Given the description of an element on the screen output the (x, y) to click on. 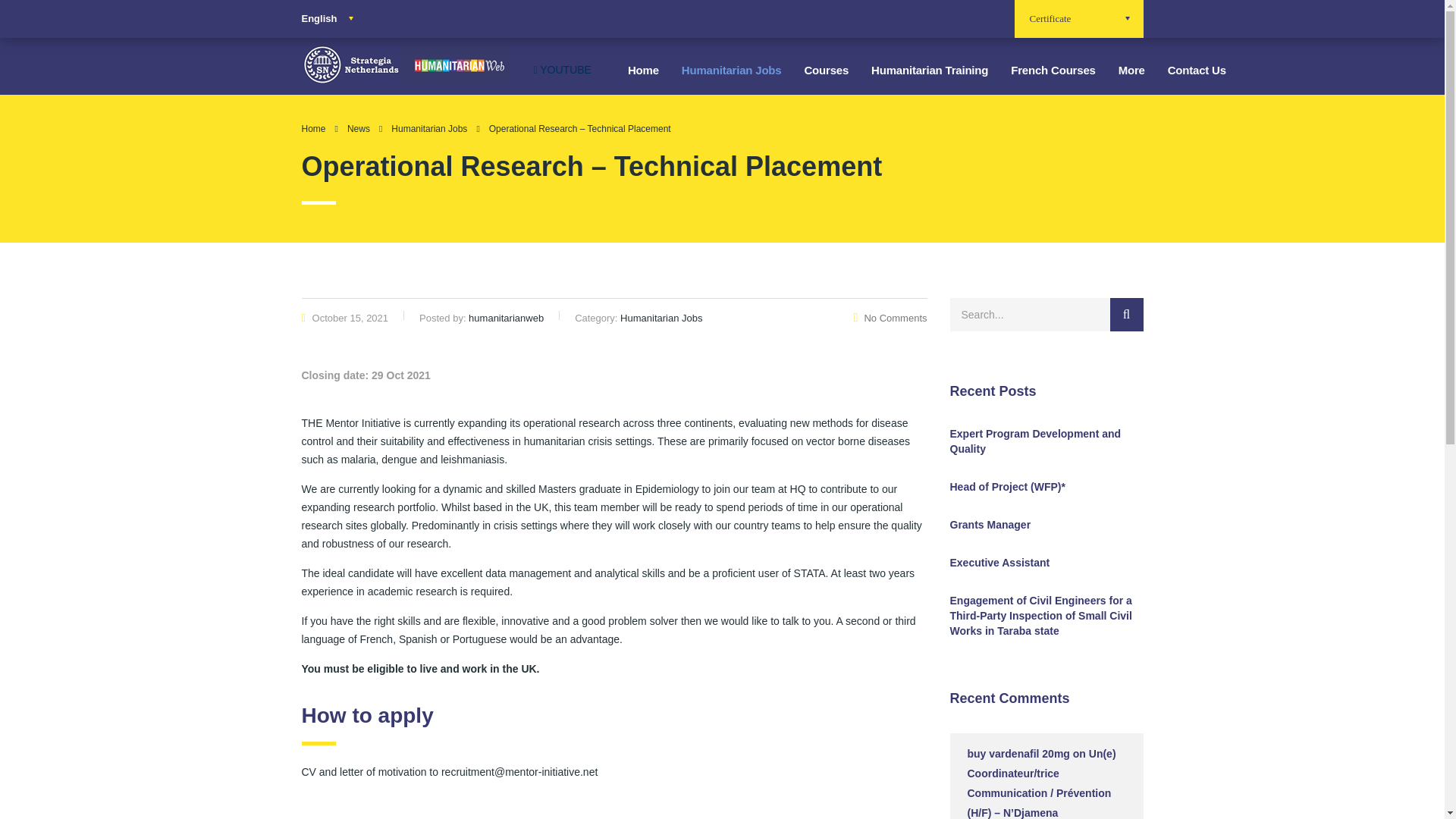
Go to the Humanitarian Jobs category archives. (429, 128)
More (1131, 70)
Go to News. (358, 128)
YOUTUBE (562, 69)
Courses (826, 70)
Executive Assistant (1045, 562)
Humanitarian Jobs (731, 70)
Expert Program Development and Quality (1045, 440)
Contact Us (1196, 70)
